Given the description of an element on the screen output the (x, y) to click on. 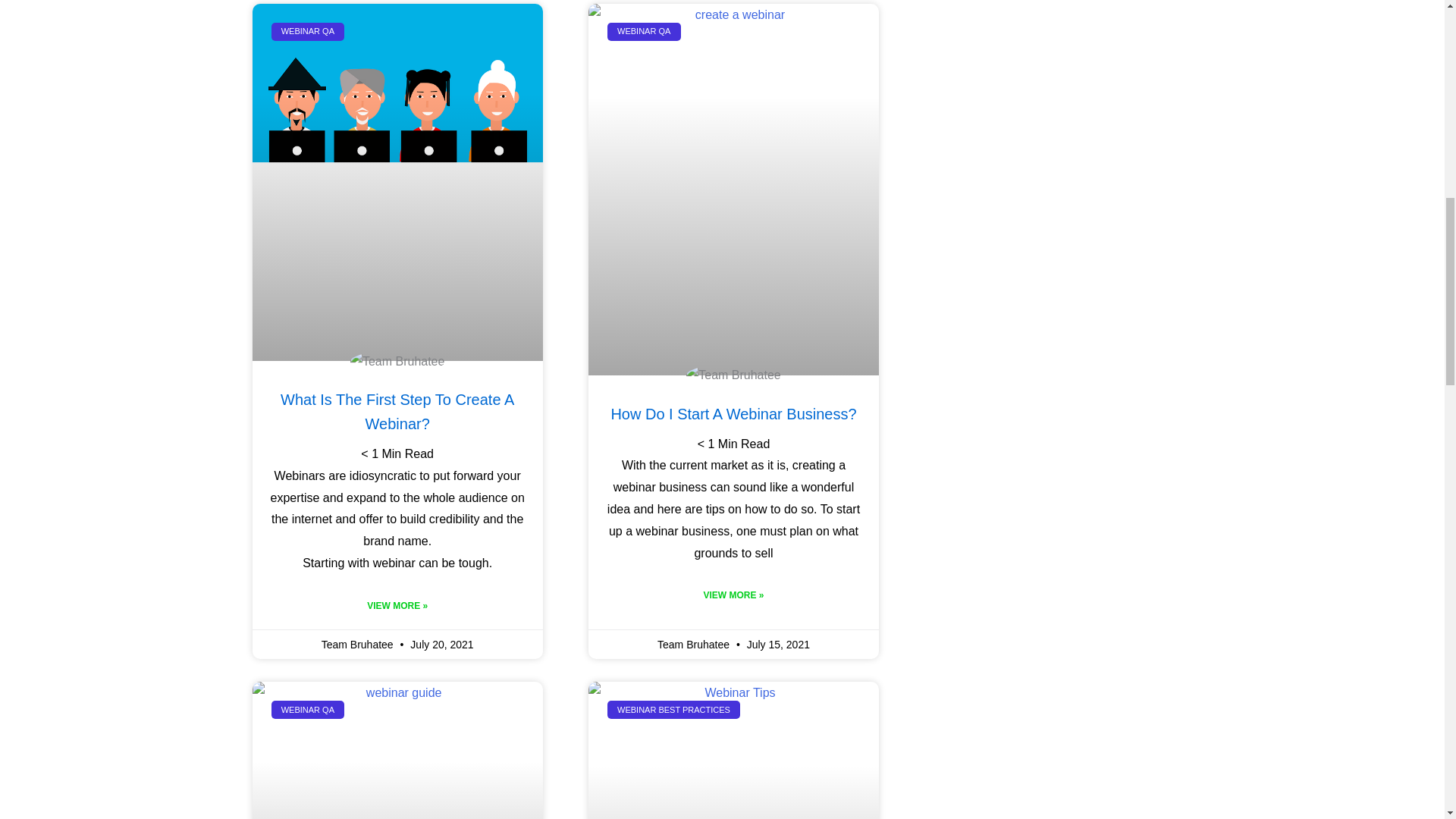
What Is The First Step To Create A Webinar? (397, 411)
